Given the description of an element on the screen output the (x, y) to click on. 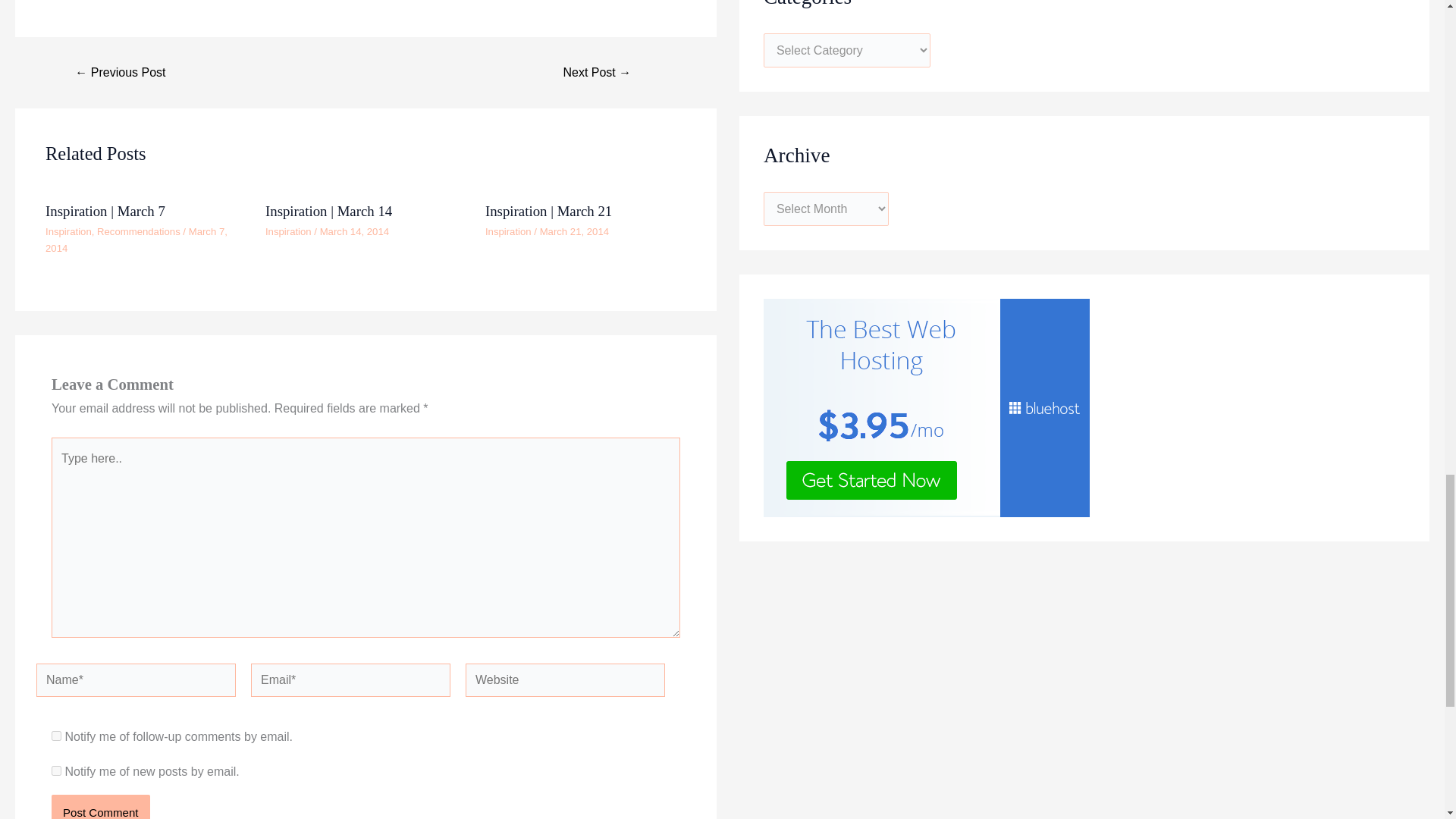
subscribe (55, 736)
subscribe (55, 770)
Post Comment (99, 806)
Desire to Be Done (119, 72)
